Given the description of an element on the screen output the (x, y) to click on. 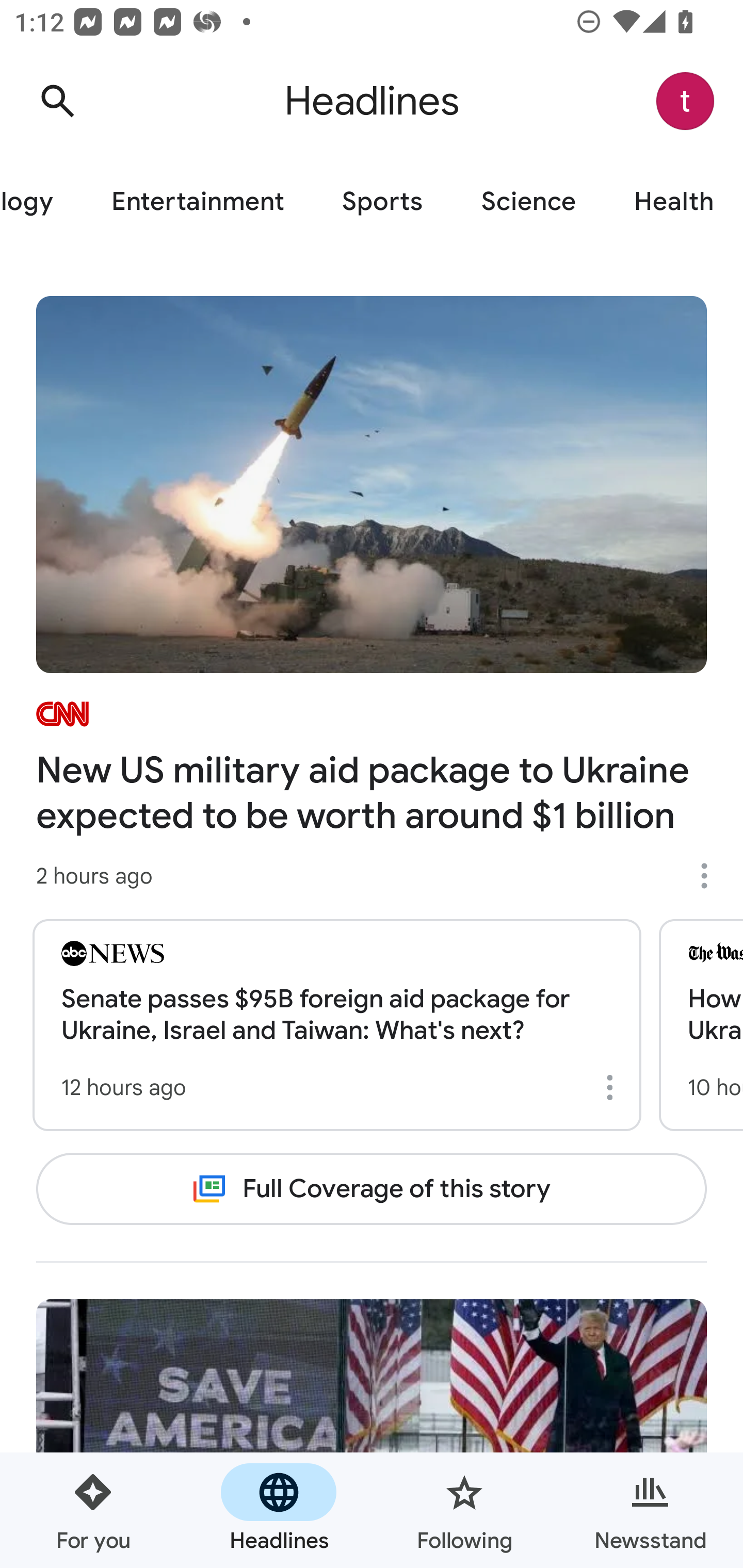
Search (57, 100)
Technology (40, 202)
Entertainment (197, 202)
Sports (382, 202)
Science (527, 202)
Health (673, 202)
More options (711, 875)
More options (613, 1086)
Full Coverage of this story (371, 1188)
For you (92, 1509)
Headlines (278, 1509)
Following (464, 1509)
Newsstand (650, 1509)
